Given the description of an element on the screen output the (x, y) to click on. 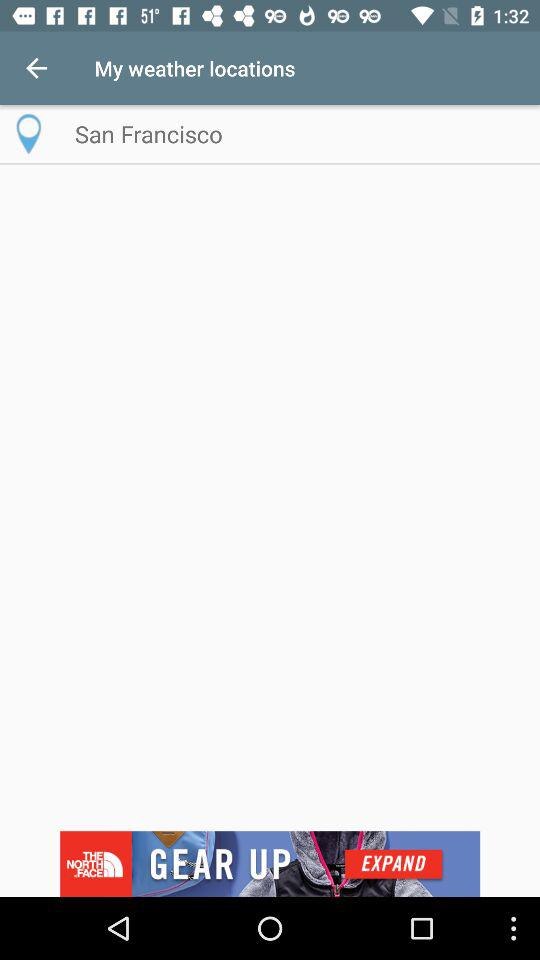
go to advertisement (270, 864)
